Given the description of an element on the screen output the (x, y) to click on. 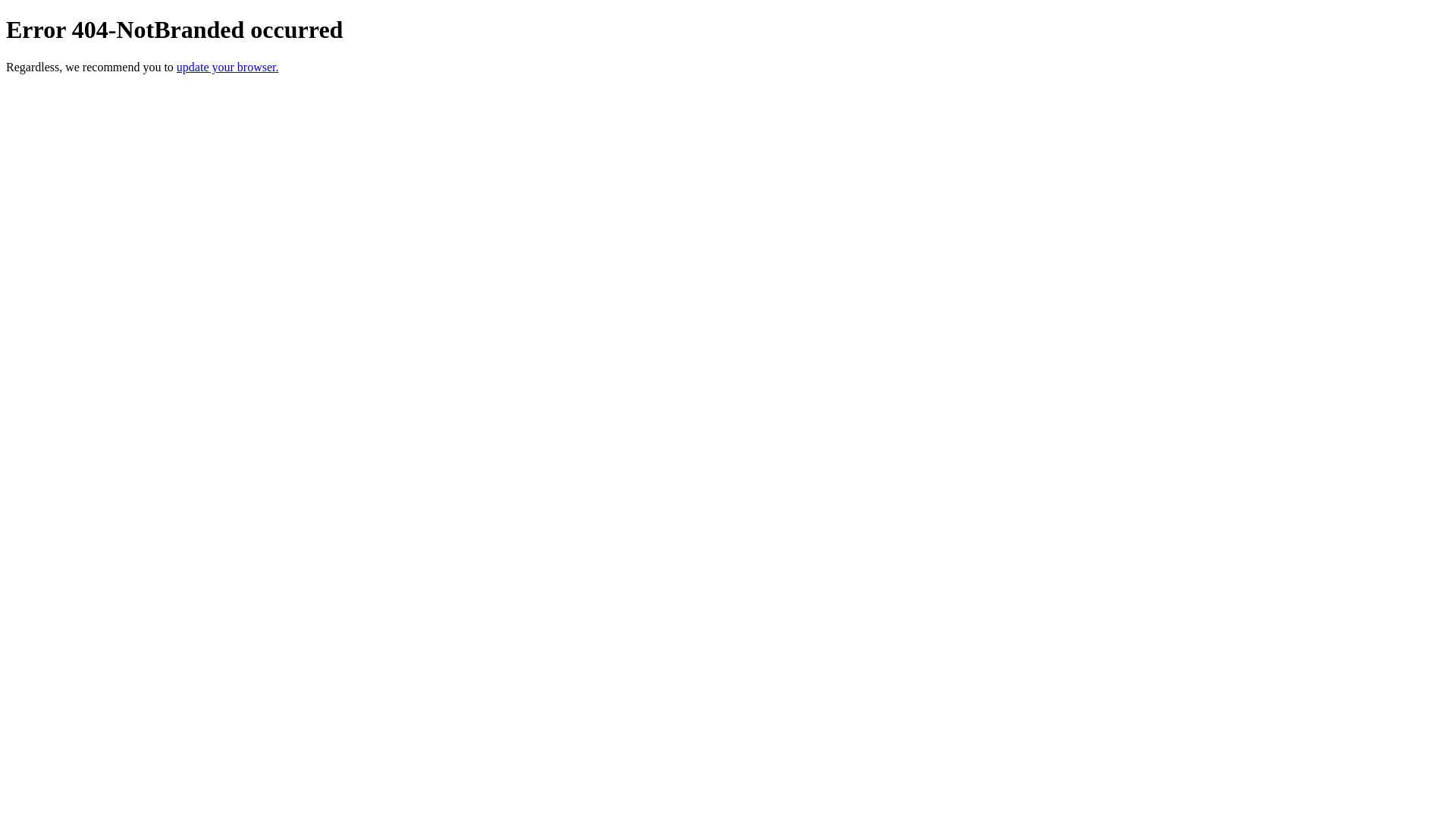
update your browser. Element type: text (227, 66)
